Given the description of an element on the screen output the (x, y) to click on. 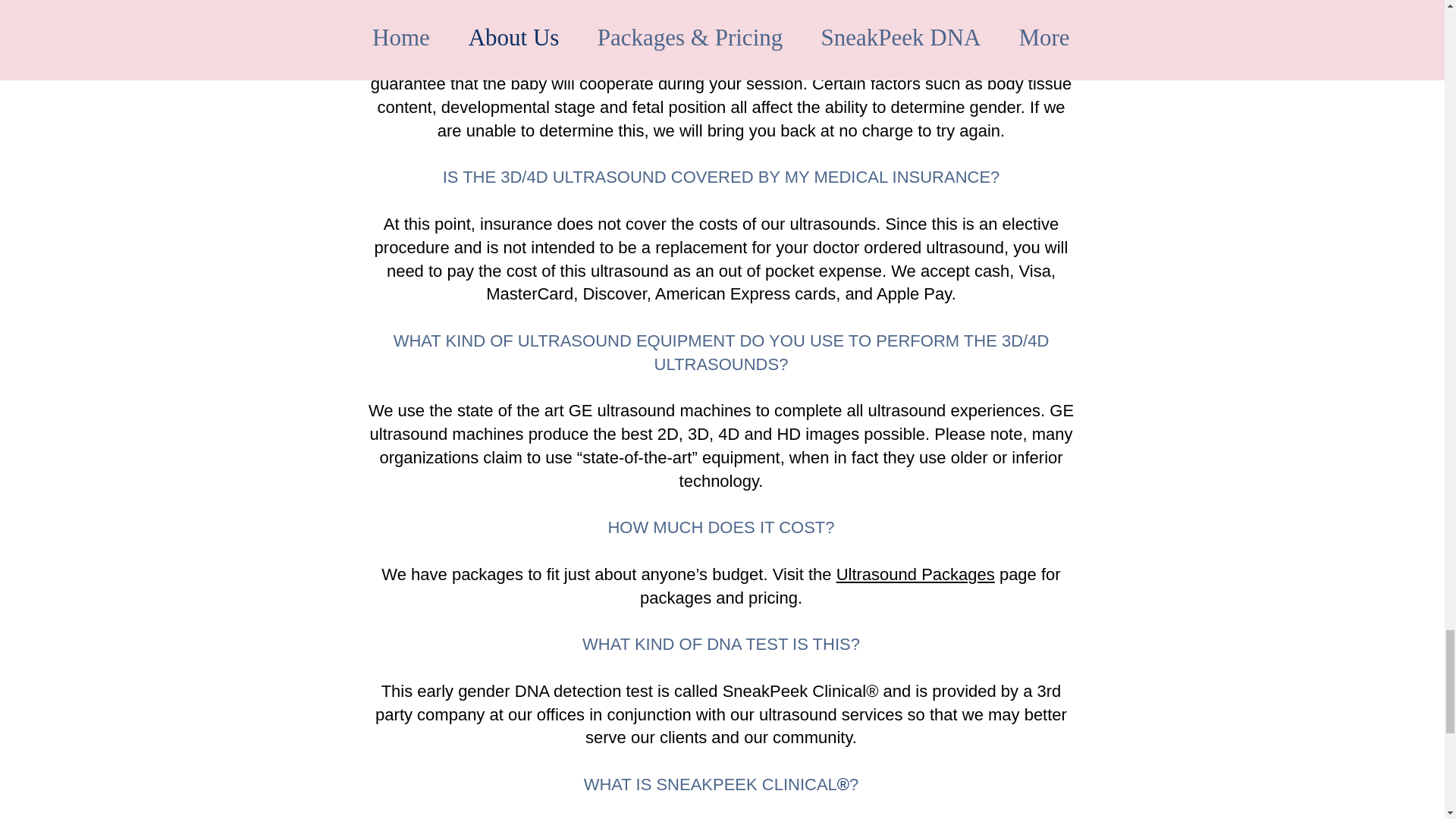
Ultrasound Packages (914, 574)
